Given the description of an element on the screen output the (x, y) to click on. 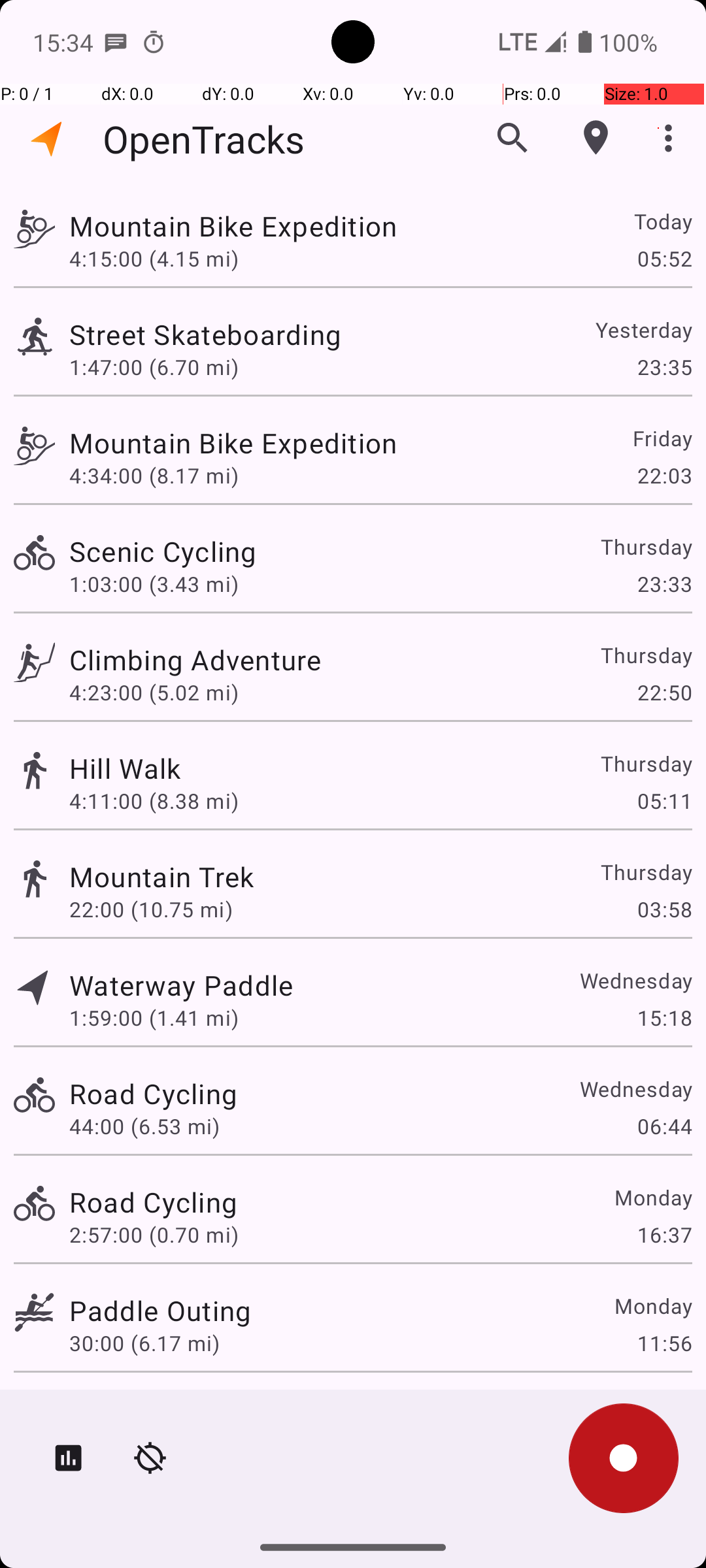
Mountain Bike Expedition Element type: android.widget.TextView (233, 225)
4:15:00 (4.15 mi) Element type: android.widget.TextView (153, 258)
05:52 Element type: android.widget.TextView (664, 258)
Street Skateboarding Element type: android.widget.TextView (204, 333)
1:47:00 (6.70 mi) Element type: android.widget.TextView (153, 366)
23:35 Element type: android.widget.TextView (664, 366)
4:34:00 (8.17 mi) Element type: android.widget.TextView (153, 475)
22:03 Element type: android.widget.TextView (664, 475)
Scenic Cycling Element type: android.widget.TextView (162, 550)
1:03:00 (3.43 mi) Element type: android.widget.TextView (153, 583)
23:33 Element type: android.widget.TextView (664, 583)
Climbing Adventure Element type: android.widget.TextView (194, 659)
4:23:00 (5.02 mi) Element type: android.widget.TextView (153, 692)
22:50 Element type: android.widget.TextView (664, 692)
Hill Walk Element type: android.widget.TextView (124, 767)
4:11:00 (8.38 mi) Element type: android.widget.TextView (153, 800)
05:11 Element type: android.widget.TextView (664, 800)
Mountain Trek Element type: android.widget.TextView (161, 876)
22:00 (10.75 mi) Element type: android.widget.TextView (150, 909)
03:58 Element type: android.widget.TextView (664, 909)
Waterway Paddle Element type: android.widget.TextView (180, 984)
1:59:00 (1.41 mi) Element type: android.widget.TextView (153, 1017)
15:18 Element type: android.widget.TextView (664, 1017)
Road Cycling Element type: android.widget.TextView (152, 1092)
44:00 (6.53 mi) Element type: android.widget.TextView (144, 1125)
06:44 Element type: android.widget.TextView (664, 1125)
2:57:00 (0.70 mi) Element type: android.widget.TextView (153, 1234)
16:37 Element type: android.widget.TextView (664, 1234)
Paddle Outing Element type: android.widget.TextView (159, 1309)
30:00 (6.17 mi) Element type: android.widget.TextView (144, 1342)
11:56 Element type: android.widget.TextView (664, 1342)
Bike Commute Element type: android.widget.TextView (162, 1408)
